Given the description of an element on the screen output the (x, y) to click on. 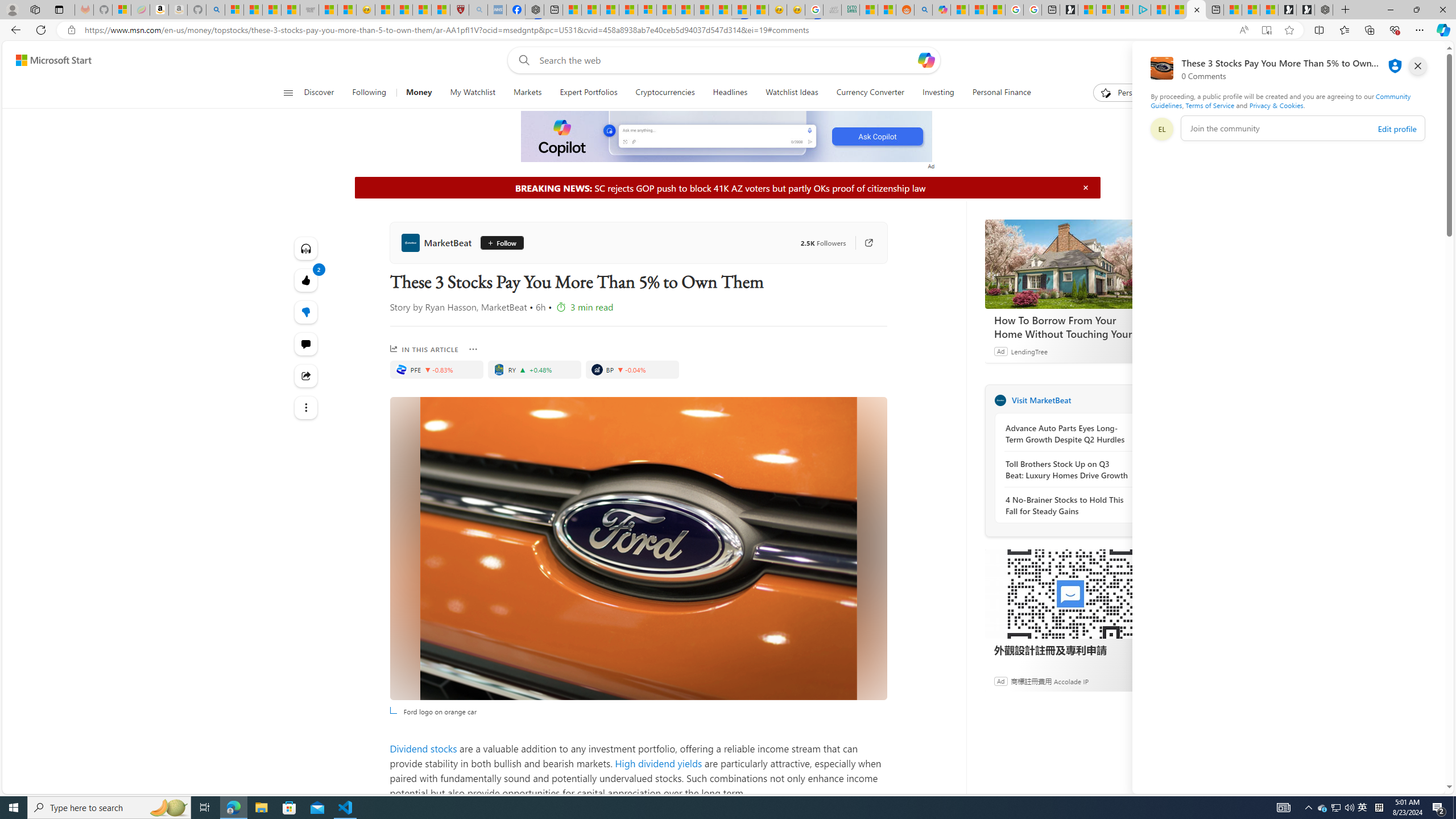
Ford logo on orange car (638, 548)
Go to publisher's site (863, 242)
ROYAL BANK OF CANADA (499, 369)
Community Guidelines (1280, 100)
Watchlist Ideas (792, 92)
